Given the description of an element on the screen output the (x, y) to click on. 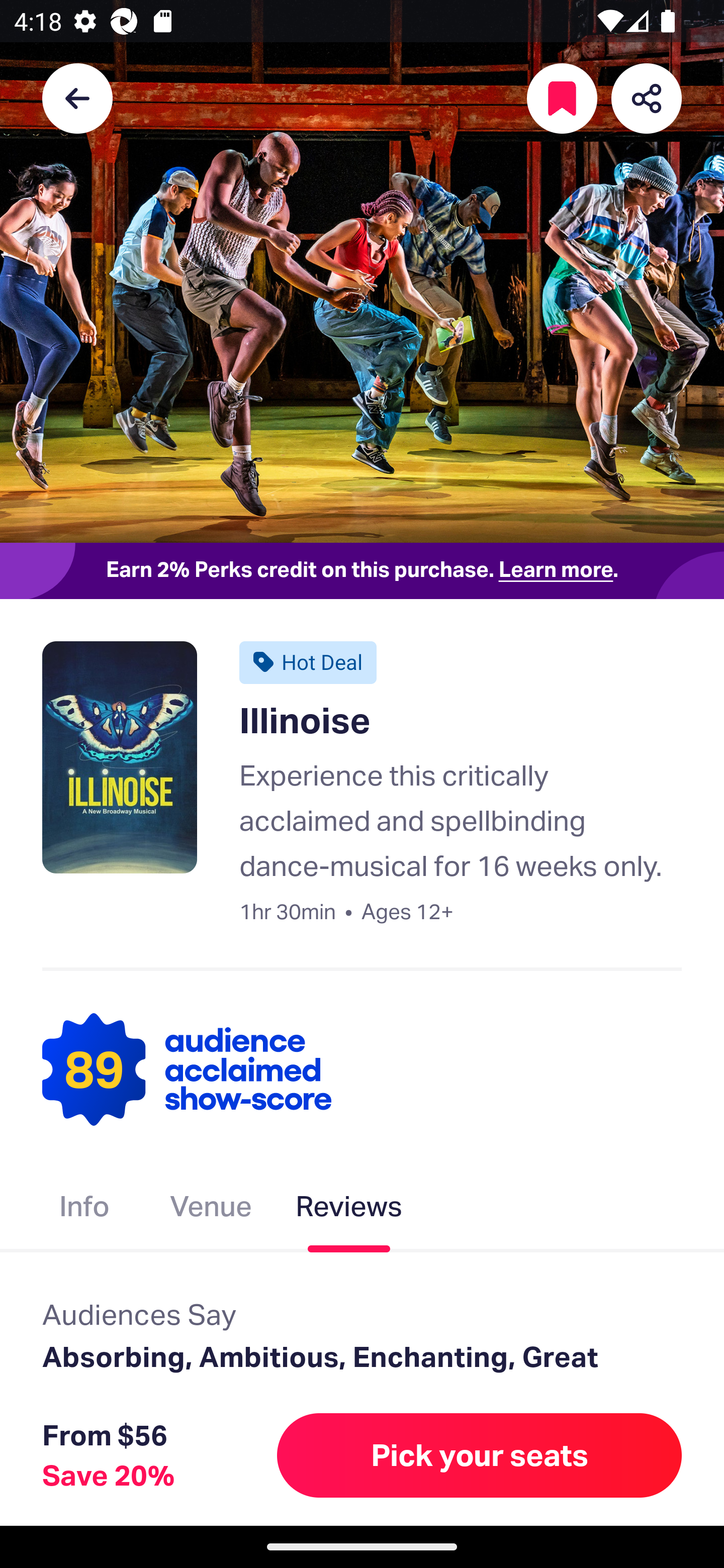
Earn 2% Perks credit on this purchase. Learn more. (362, 570)
Info (83, 1210)
Venue (210, 1210)
Pick your seats (479, 1454)
